Given the description of an element on the screen output the (x, y) to click on. 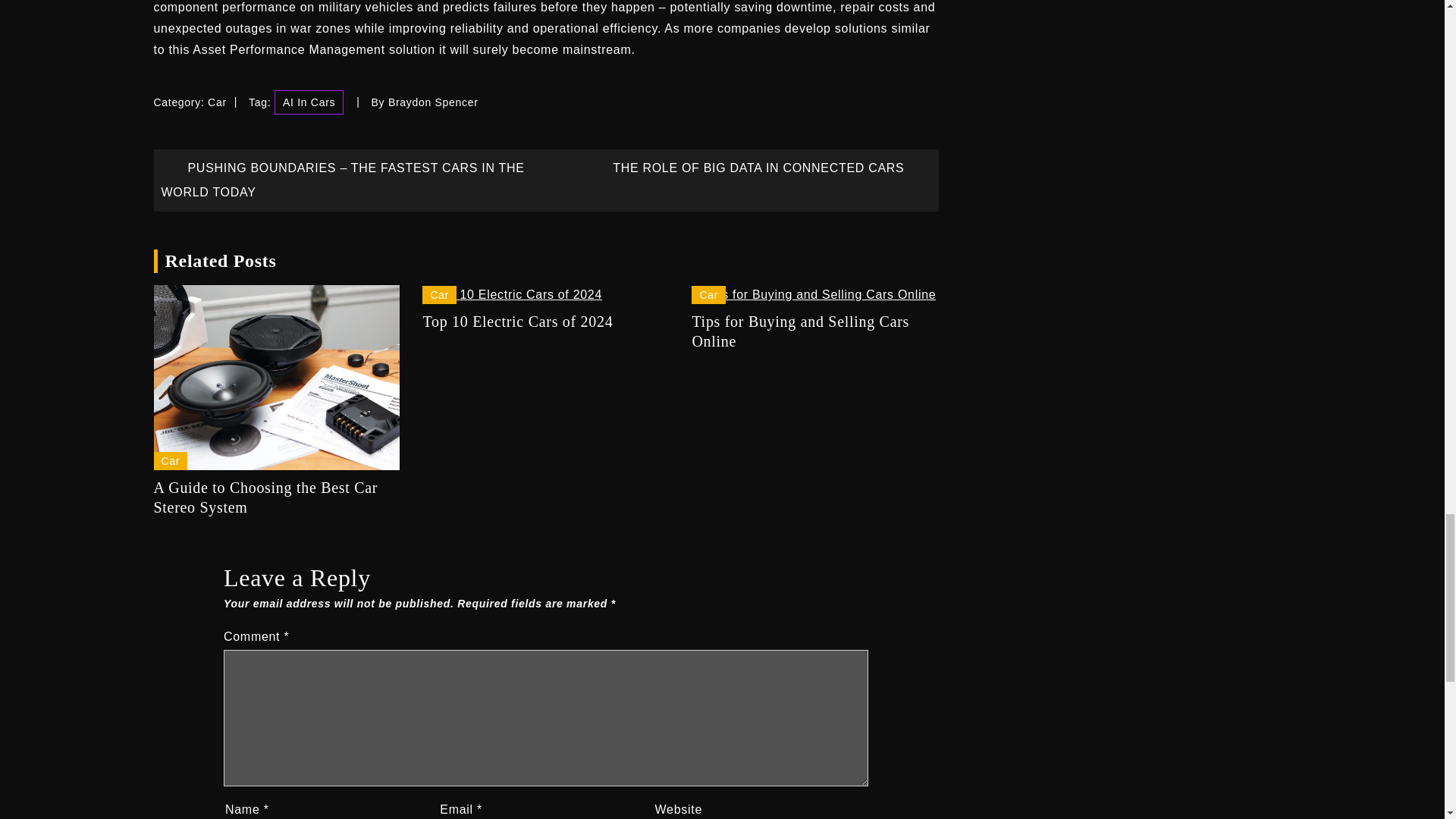
Tips for Buying and Selling Cars Online (814, 331)
Car (169, 460)
Braydon Spencer (433, 102)
A Guide to Choosing the Best Car Stereo System (275, 496)
AI In Cars (309, 102)
Top 10 Electric Cars of 2024 (545, 321)
Car (217, 102)
Car (708, 294)
Car (439, 294)
THE ROLE OF BIG DATA IN CONNECTED CARS (771, 167)
